Given the description of an element on the screen output the (x, y) to click on. 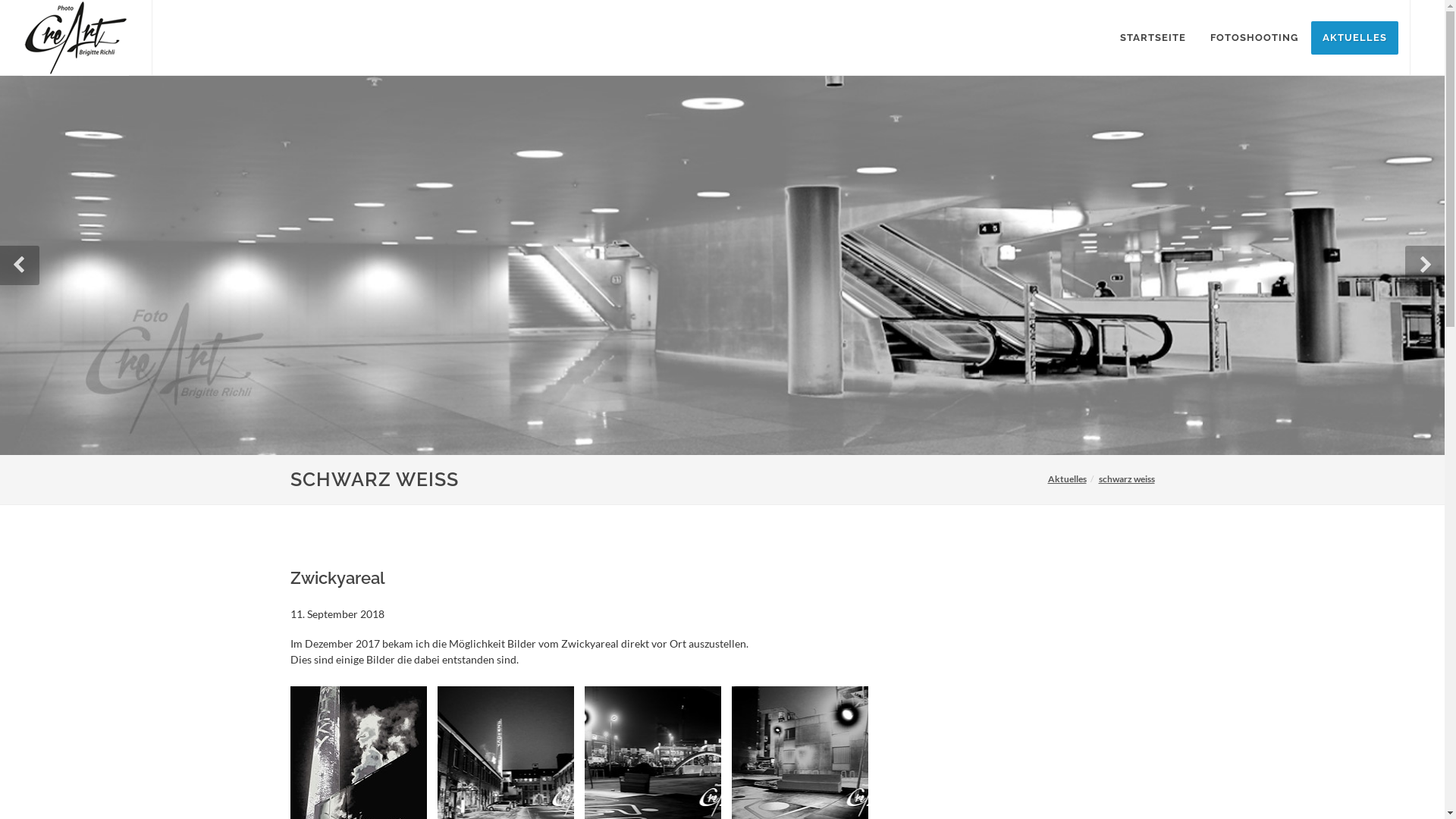
Aktuelles Element type: text (1067, 478)
STARTSEITE Element type: text (1152, 37)
AKTUELLES Element type: text (1354, 37)
FOTOSHOOTING Element type: text (1253, 37)
schwarz weiss Element type: text (1126, 478)
